Given the description of an element on the screen output the (x, y) to click on. 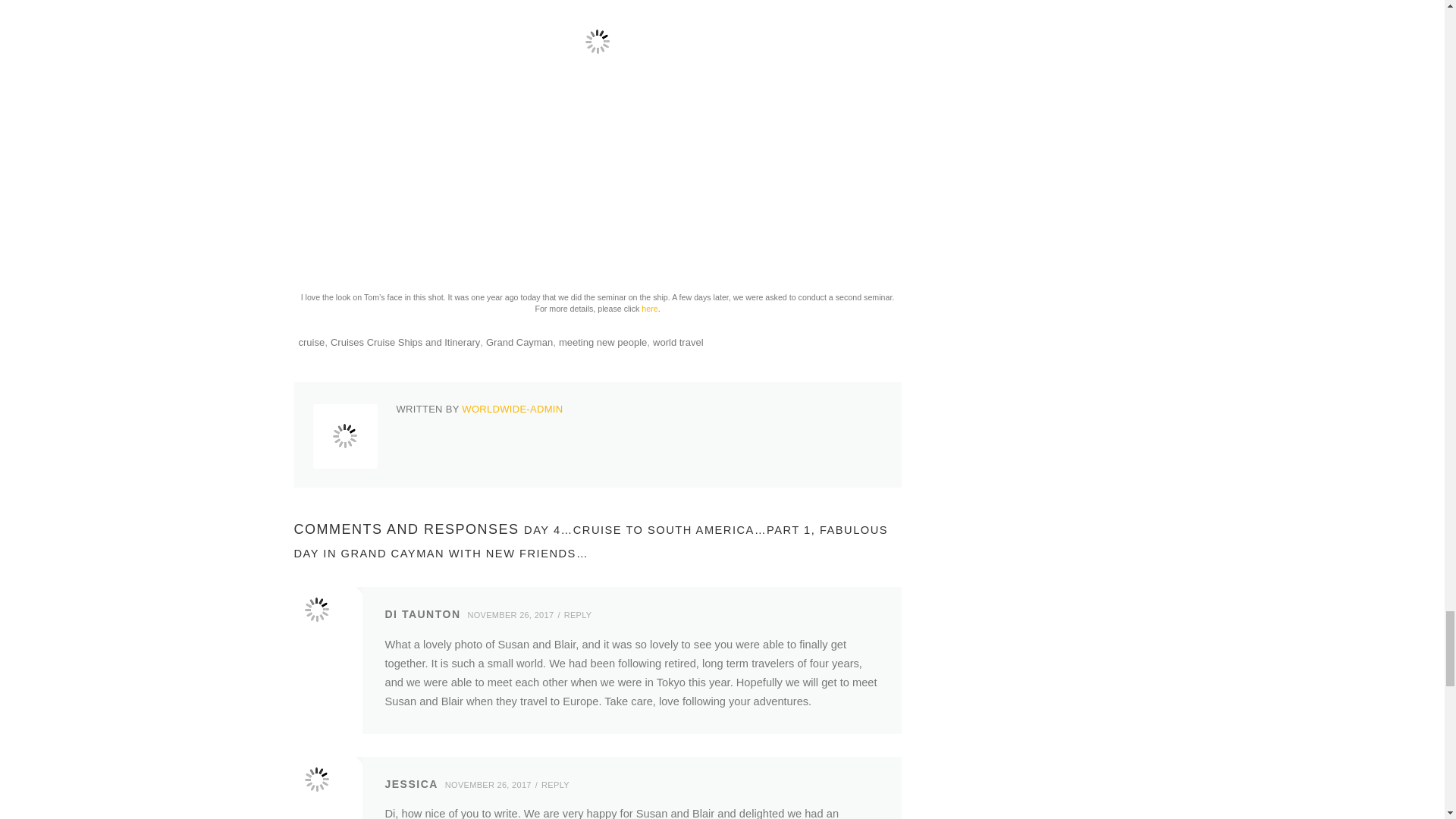
Grand Cayman (519, 342)
here (650, 307)
Cruises Cruise Ships and Itinerary (405, 342)
cruise (311, 342)
